Given the description of an element on the screen output the (x, y) to click on. 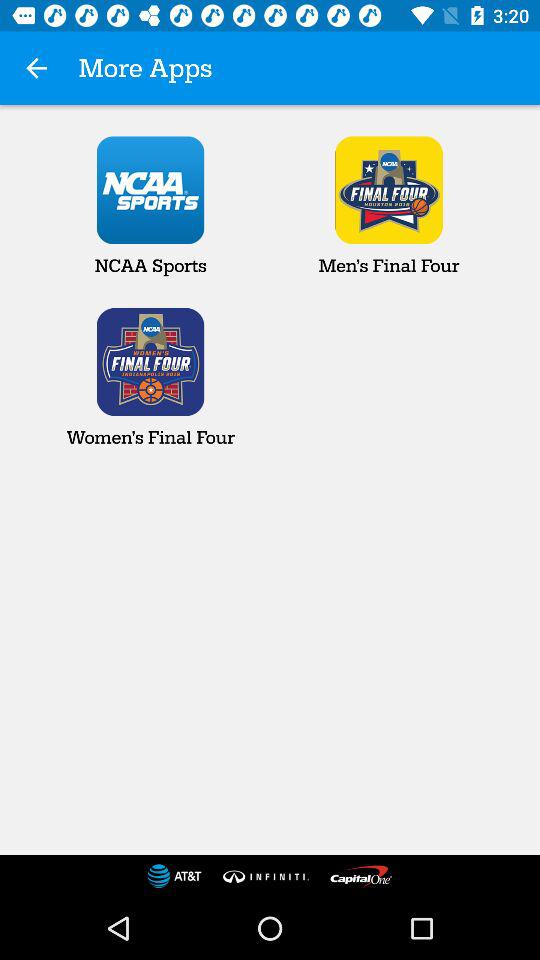
select the app next to more apps app (36, 68)
